Given the description of an element on the screen output the (x, y) to click on. 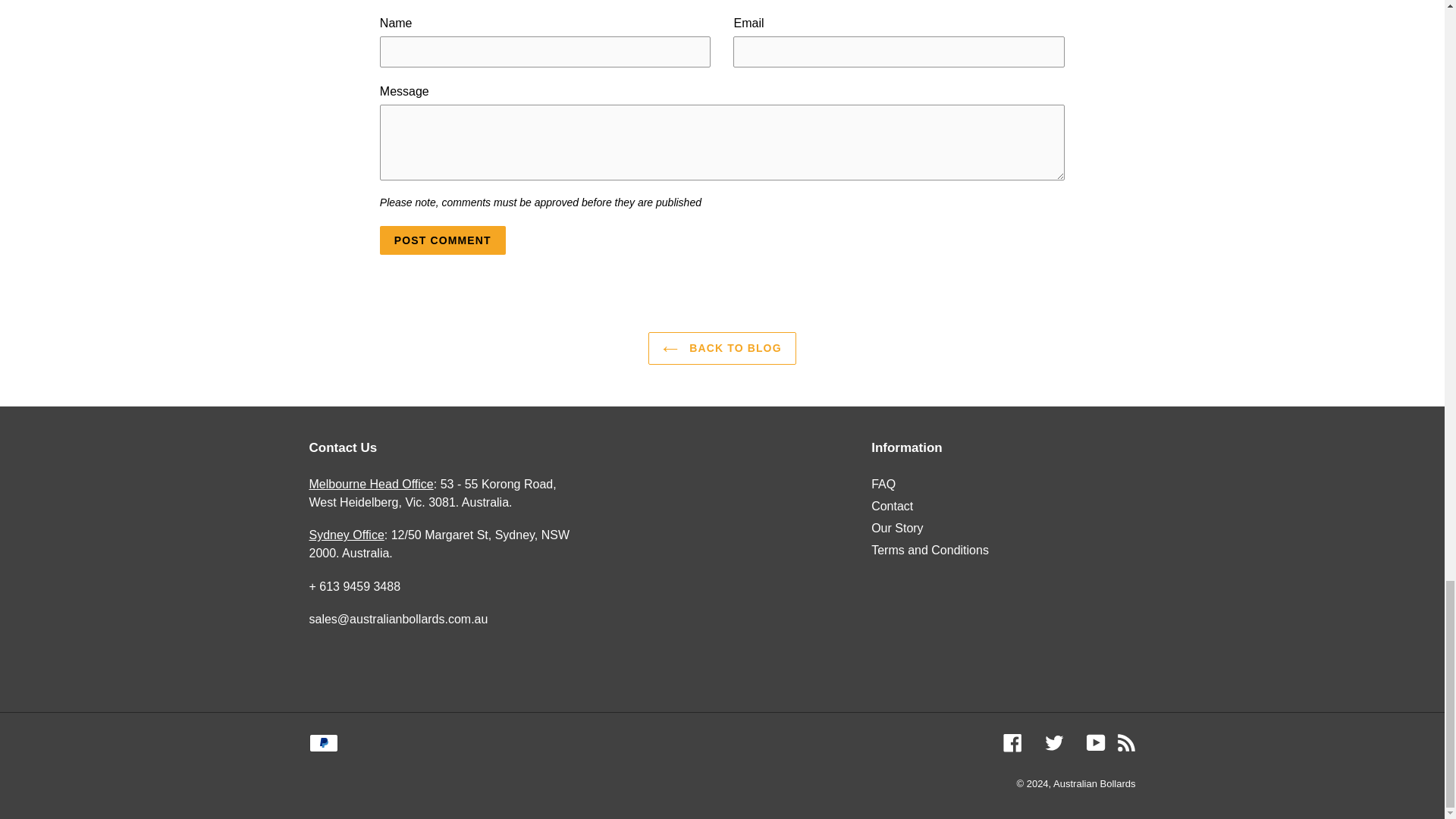
Post comment (442, 240)
